Given the description of an element on the screen output the (x, y) to click on. 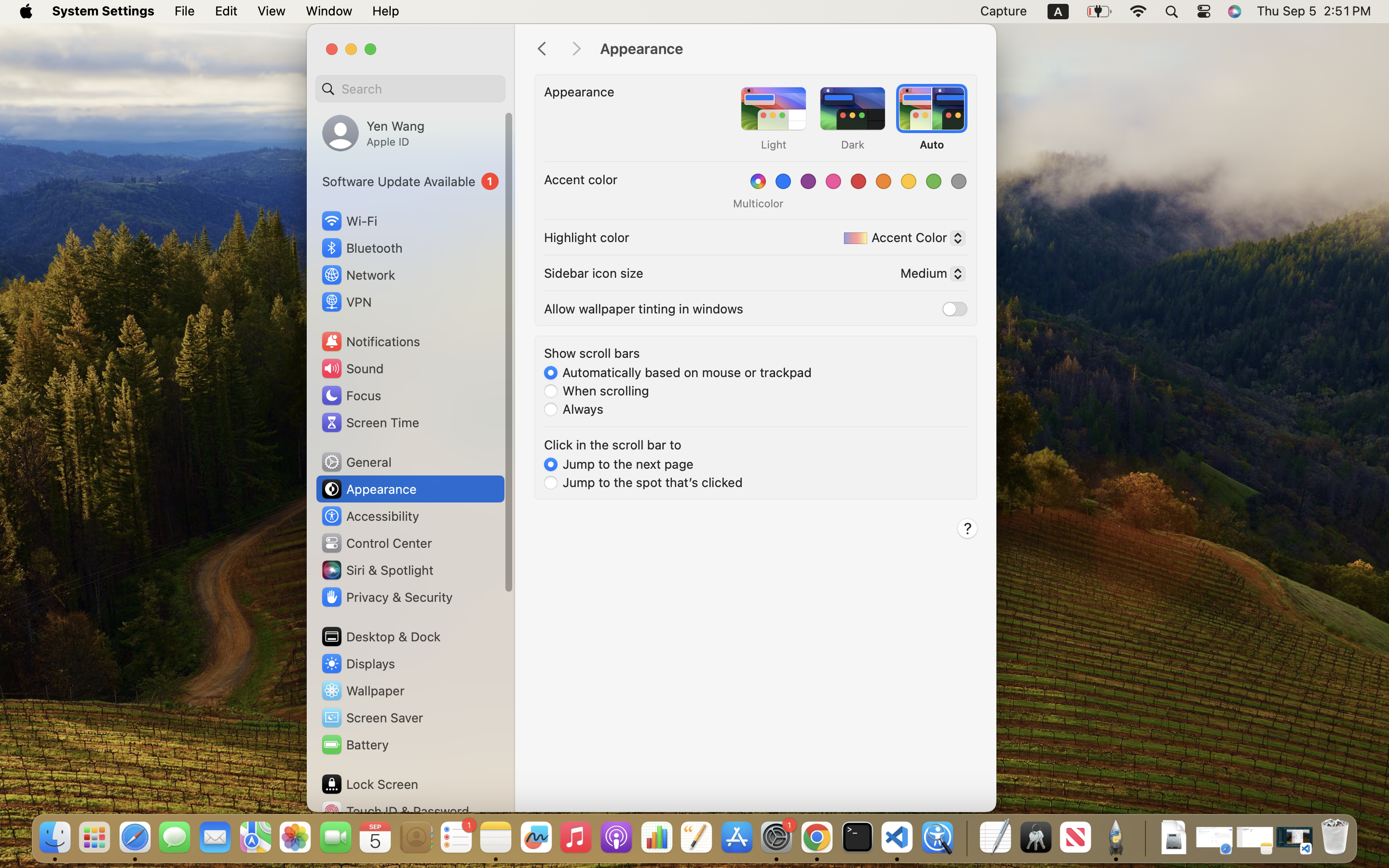
Sidebar icon size Element type: AXStaticText (593, 272)
